Given the description of an element on the screen output the (x, y) to click on. 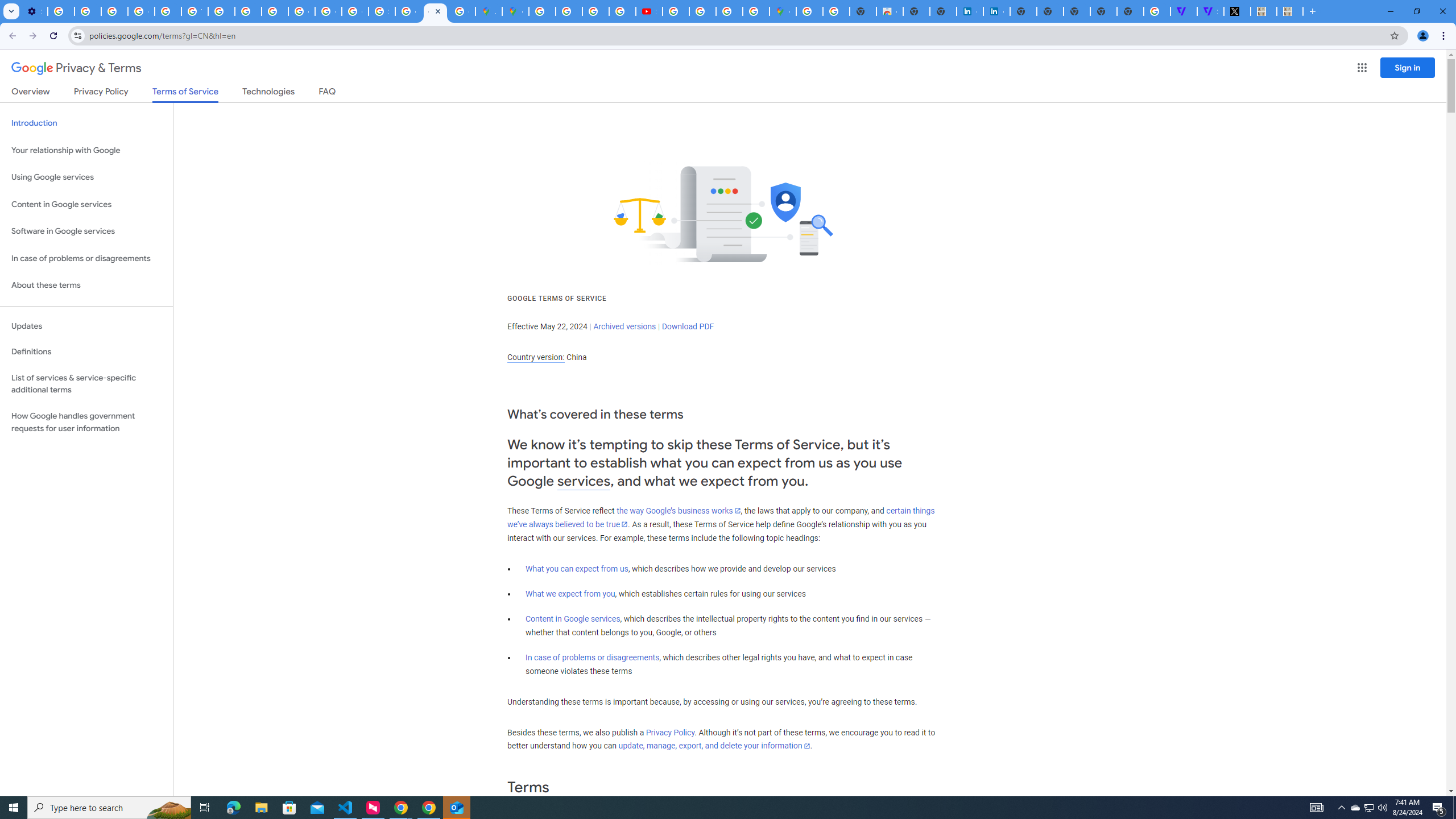
How Google handles government requests for user information (86, 422)
Blogger Policies and Guidelines - Transparency Center (542, 11)
New Tab (1130, 11)
